Given the description of an element on the screen output the (x, y) to click on. 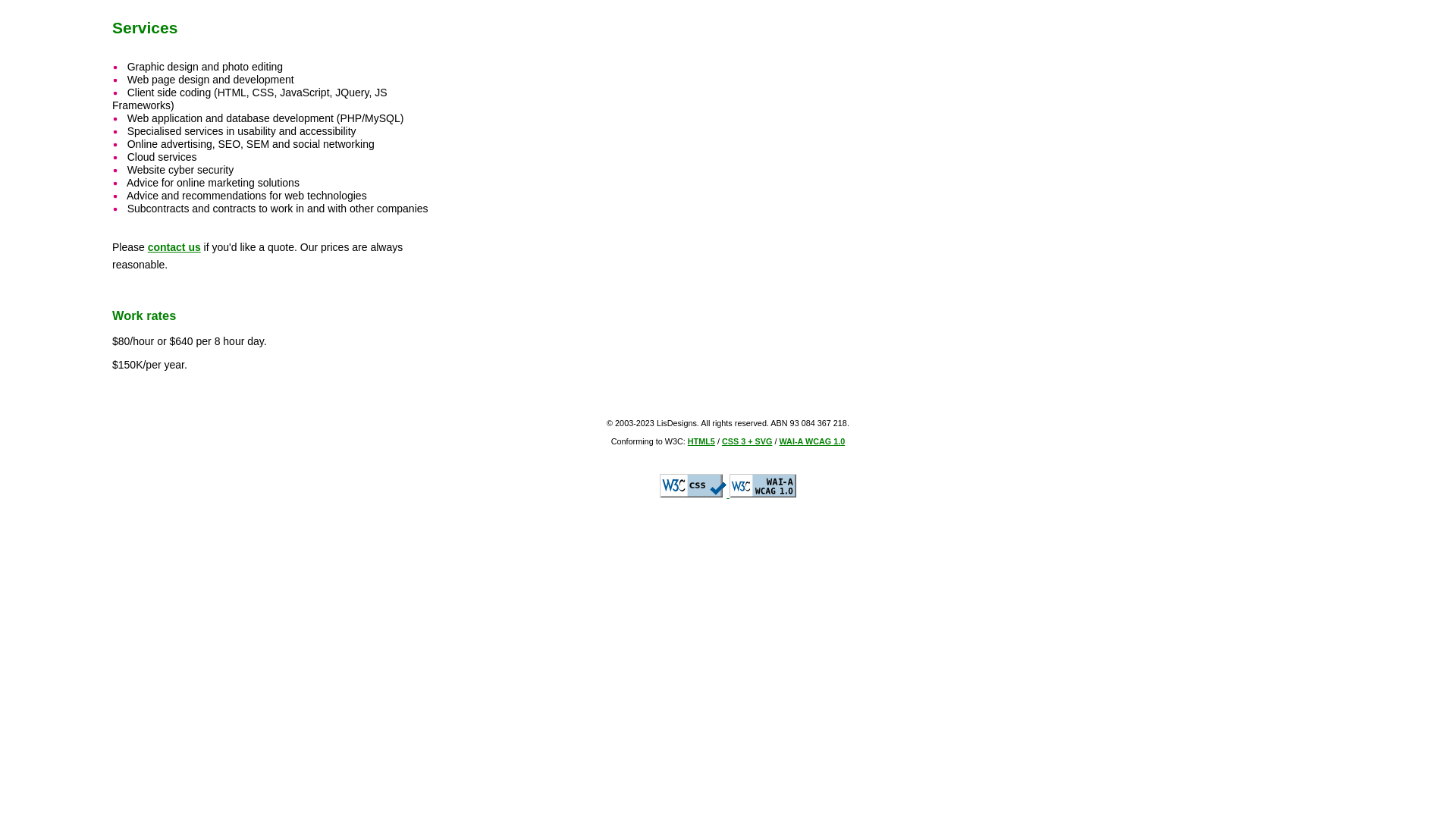
CSS 3 + SVG Element type: text (746, 440)
HTML5 Element type: text (701, 440)
WAI-A WCAG 1.0 Element type: text (811, 440)
contact us Element type: text (173, 247)
